Given the description of an element on the screen output the (x, y) to click on. 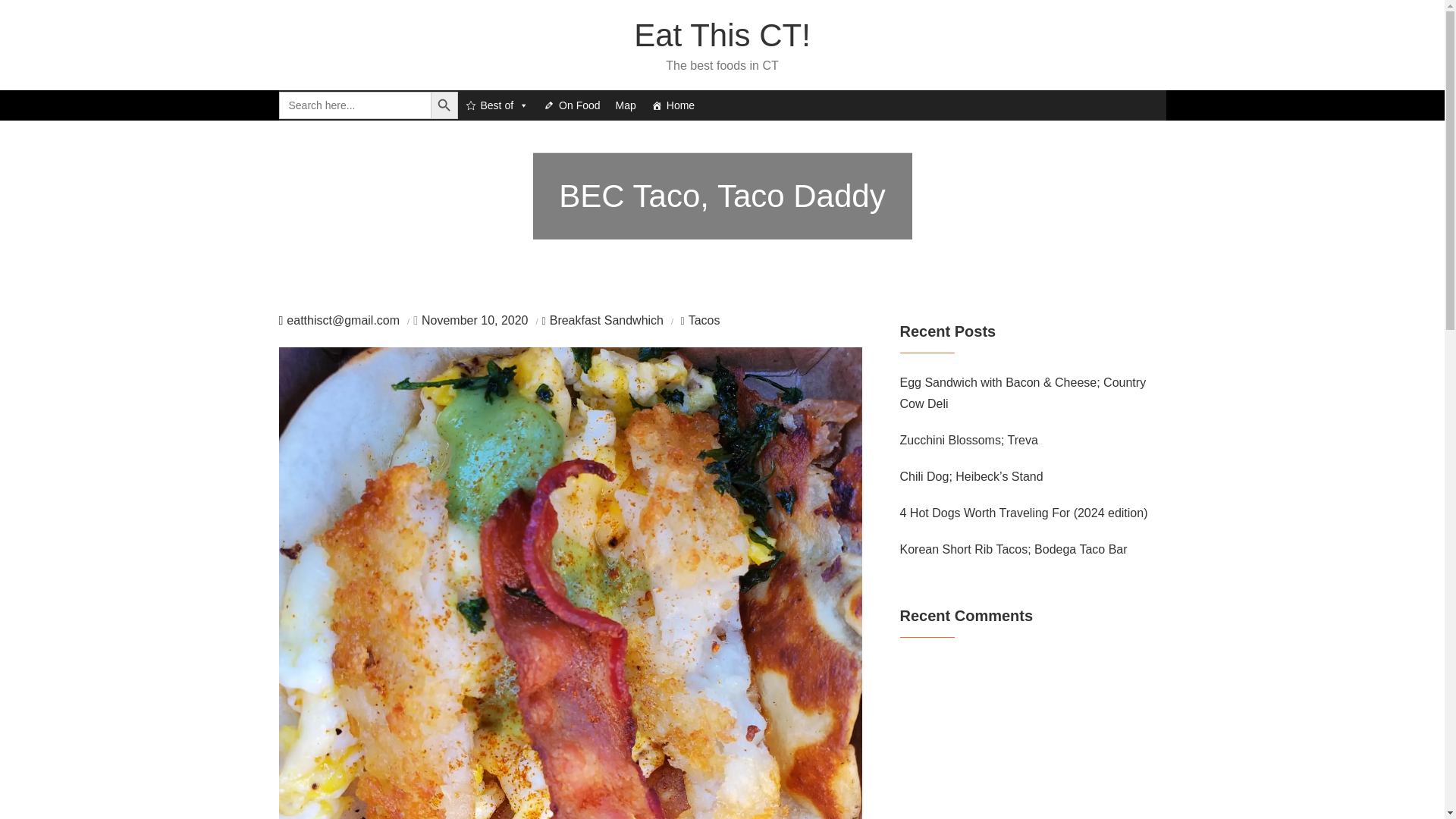
Zucchini Blossoms; Treva (967, 440)
Tacos (700, 319)
Best of (497, 105)
On Food (571, 105)
Search Button (444, 104)
Home (672, 105)
Eat This CT! (721, 35)
Map (625, 105)
November 10, 2020 (475, 319)
Korean Short Rib Tacos; Bodega Taco Bar (1012, 549)
